Given the description of an element on the screen output the (x, y) to click on. 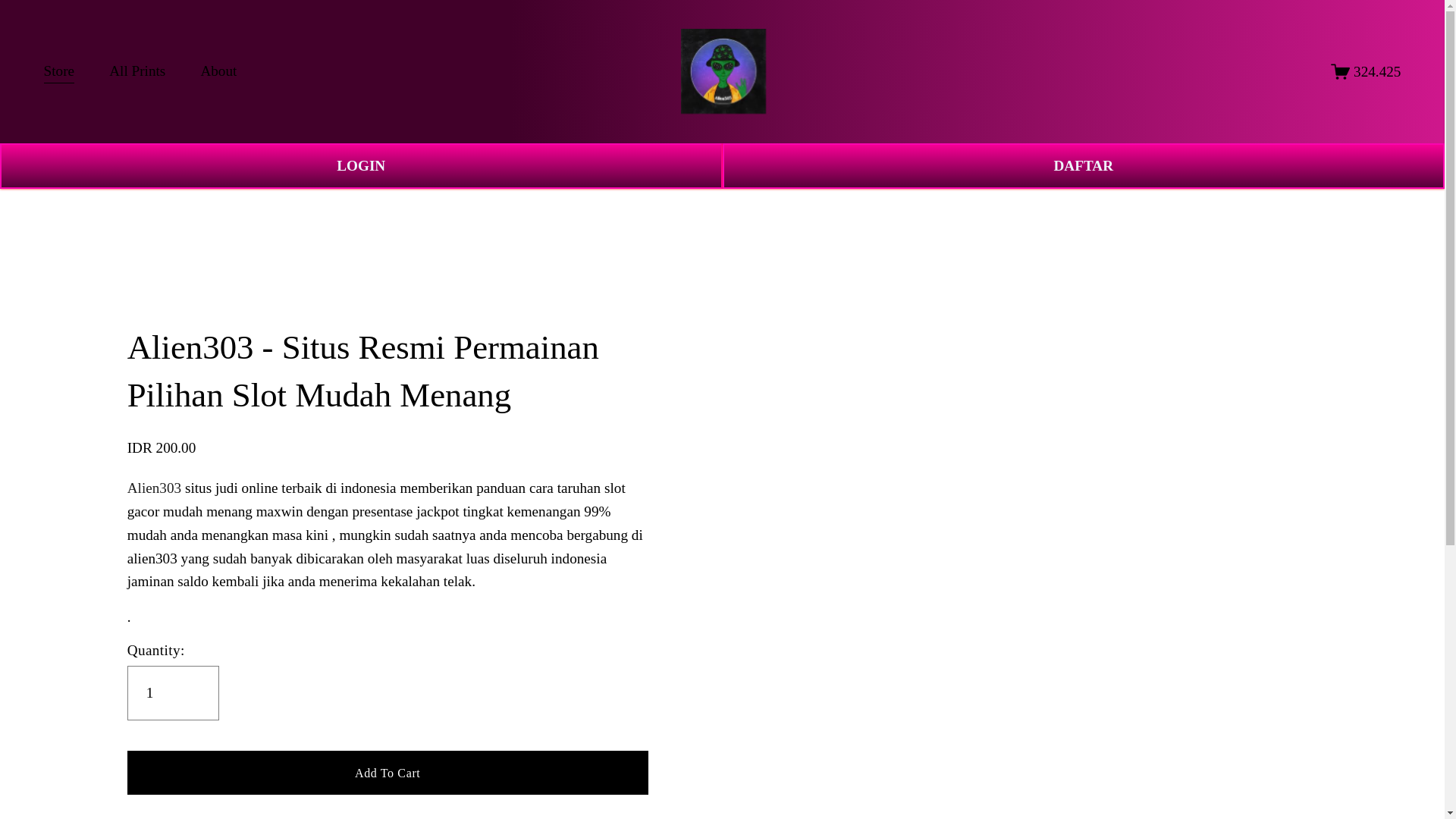
Add To Cart (387, 772)
1 (173, 692)
All Prints (137, 71)
Store (59, 71)
324.425 (1365, 71)
LOGIN (361, 166)
About (217, 71)
Alien303 (154, 487)
